Given the description of an element on the screen output the (x, y) to click on. 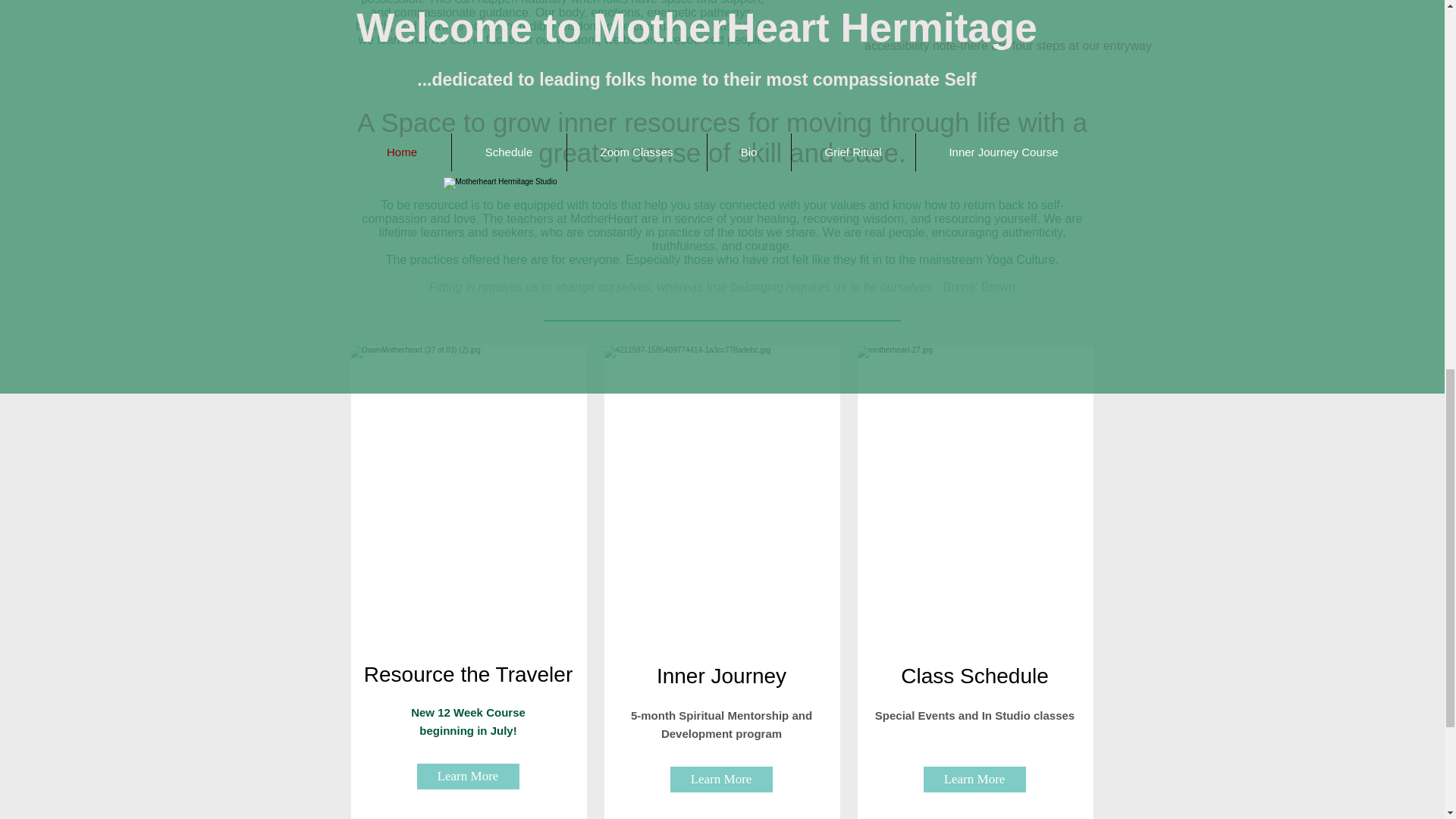
Learn More (974, 779)
Learn More (467, 776)
Learn More (721, 779)
